Given the description of an element on the screen output the (x, y) to click on. 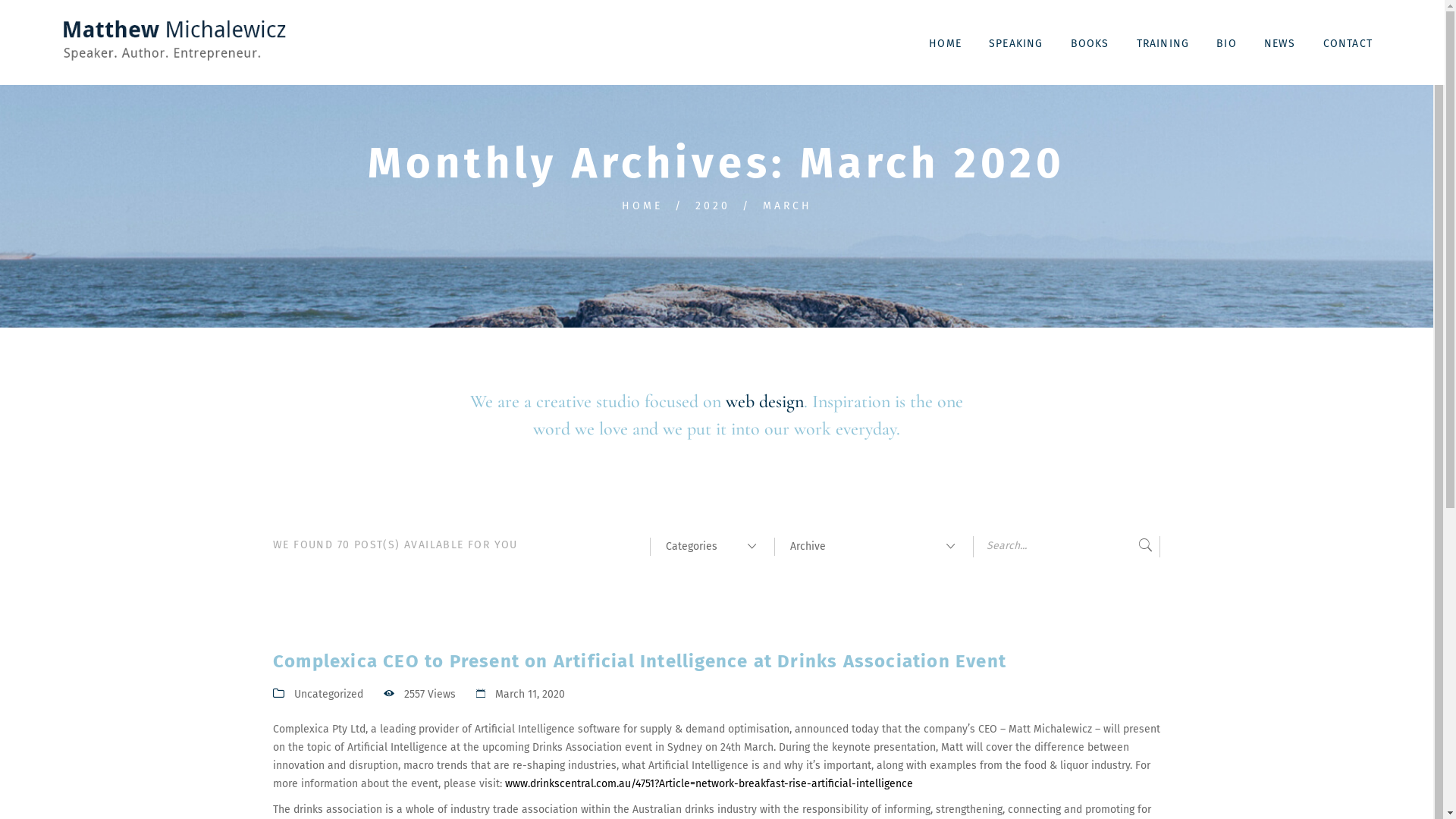
2020 Element type: text (711, 205)
March 11, 2020 Element type: text (529, 693)
HOME Element type: text (944, 42)
TRAINING Element type: text (1162, 42)
SPEAKING Element type: text (1015, 42)
Uncategorized Element type: text (328, 693)
HOME Element type: text (641, 205)
BIO Element type: text (1226, 42)
CONTACT Element type: text (1347, 42)
BOOKS Element type: text (1089, 42)
NEWS Element type: text (1280, 42)
